Given the description of an element on the screen output the (x, y) to click on. 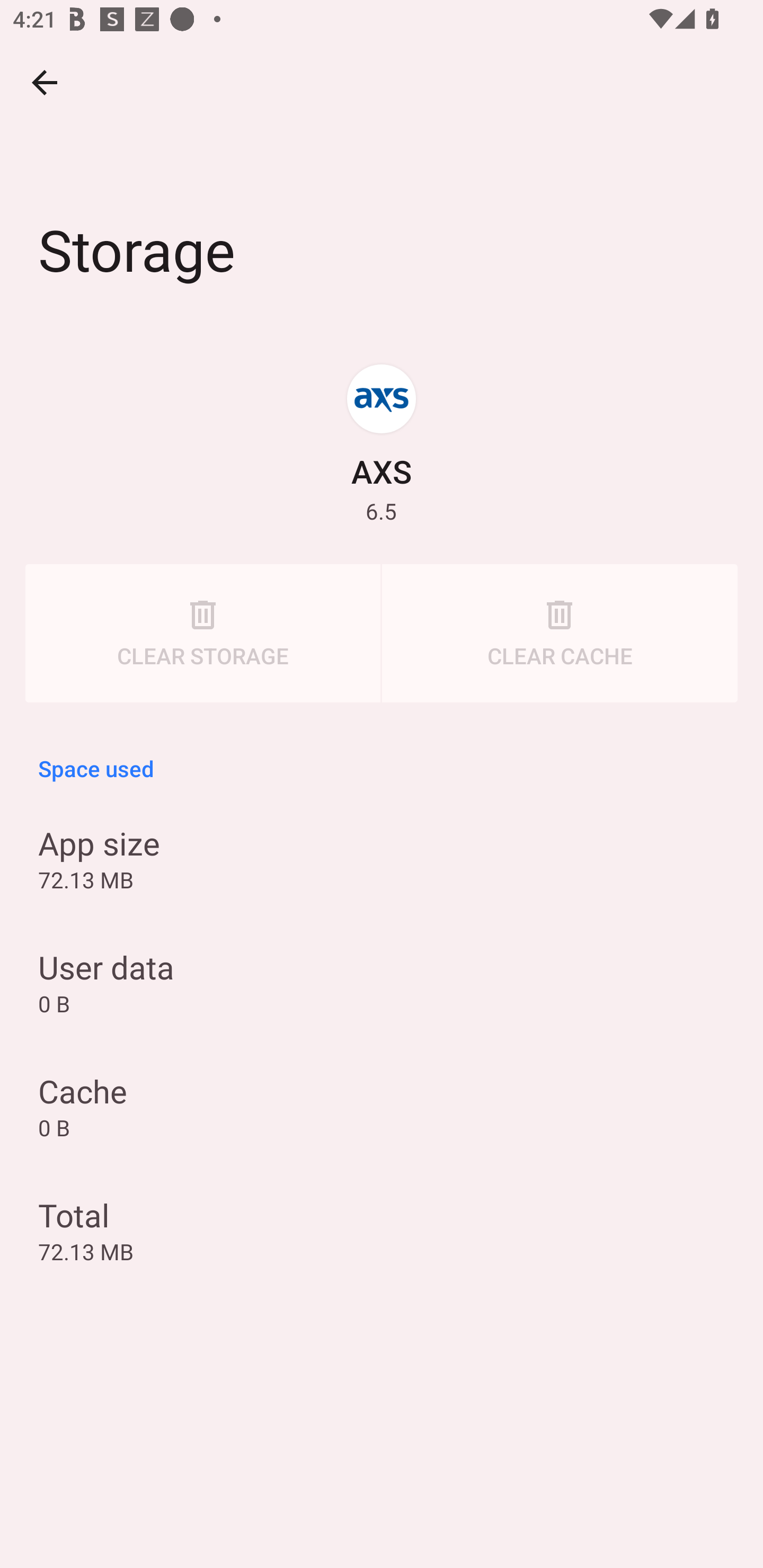
Navigate up (44, 82)
AXS 6.5 (381, 442)
CLEAR STORAGE (202, 633)
CLEAR CACHE (559, 633)
